Given the description of an element on the screen output the (x, y) to click on. 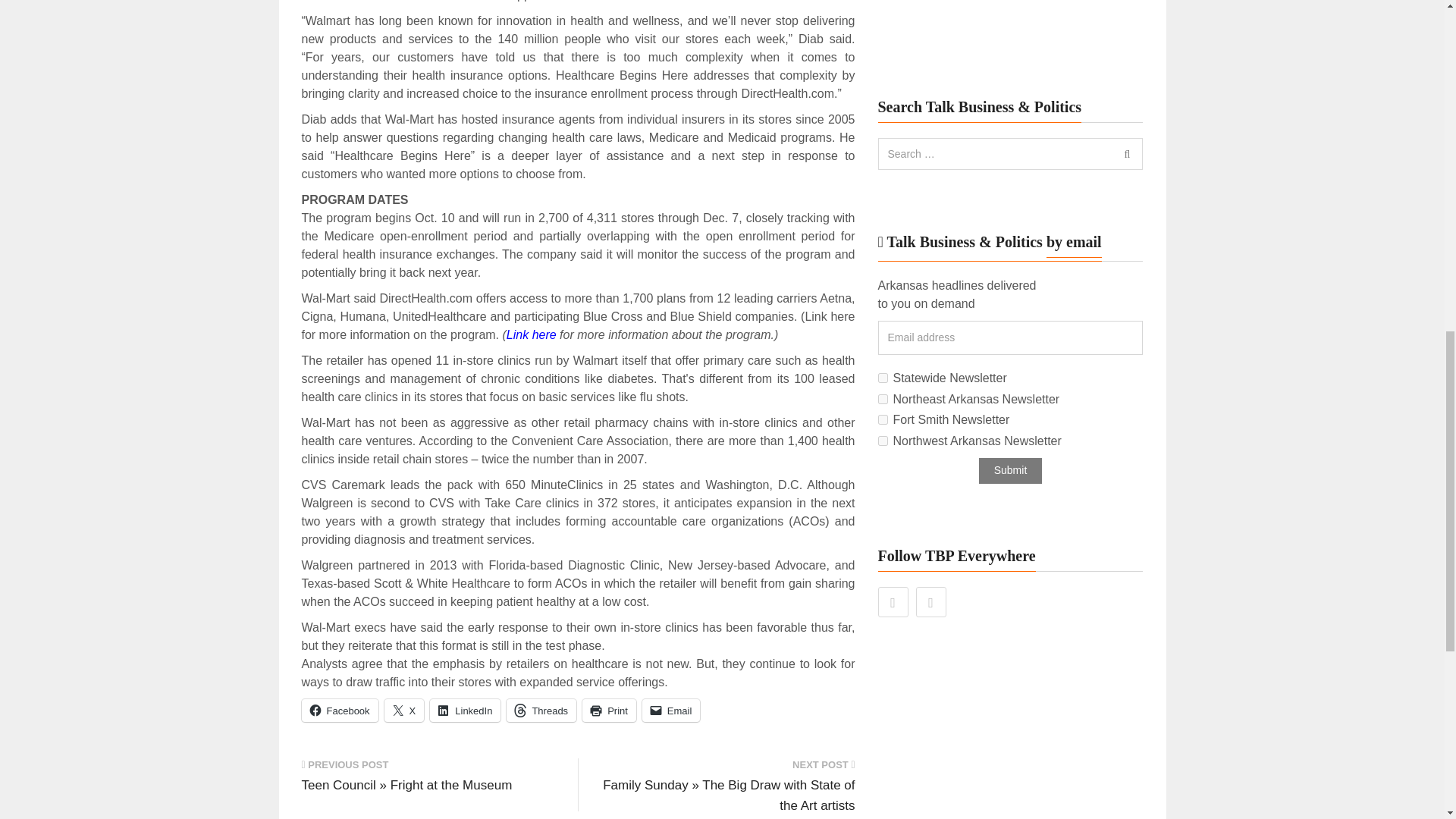
536baa6e11 (882, 440)
Click to share on Threads (541, 710)
a8cb0d3206 (882, 378)
bfd07a2f6a (882, 419)
Click to share on LinkedIn (464, 710)
Click to share on X (404, 710)
Click to print (609, 710)
Click to share on Facebook (339, 710)
0dbc242577 (882, 398)
